Given the description of an element on the screen output the (x, y) to click on. 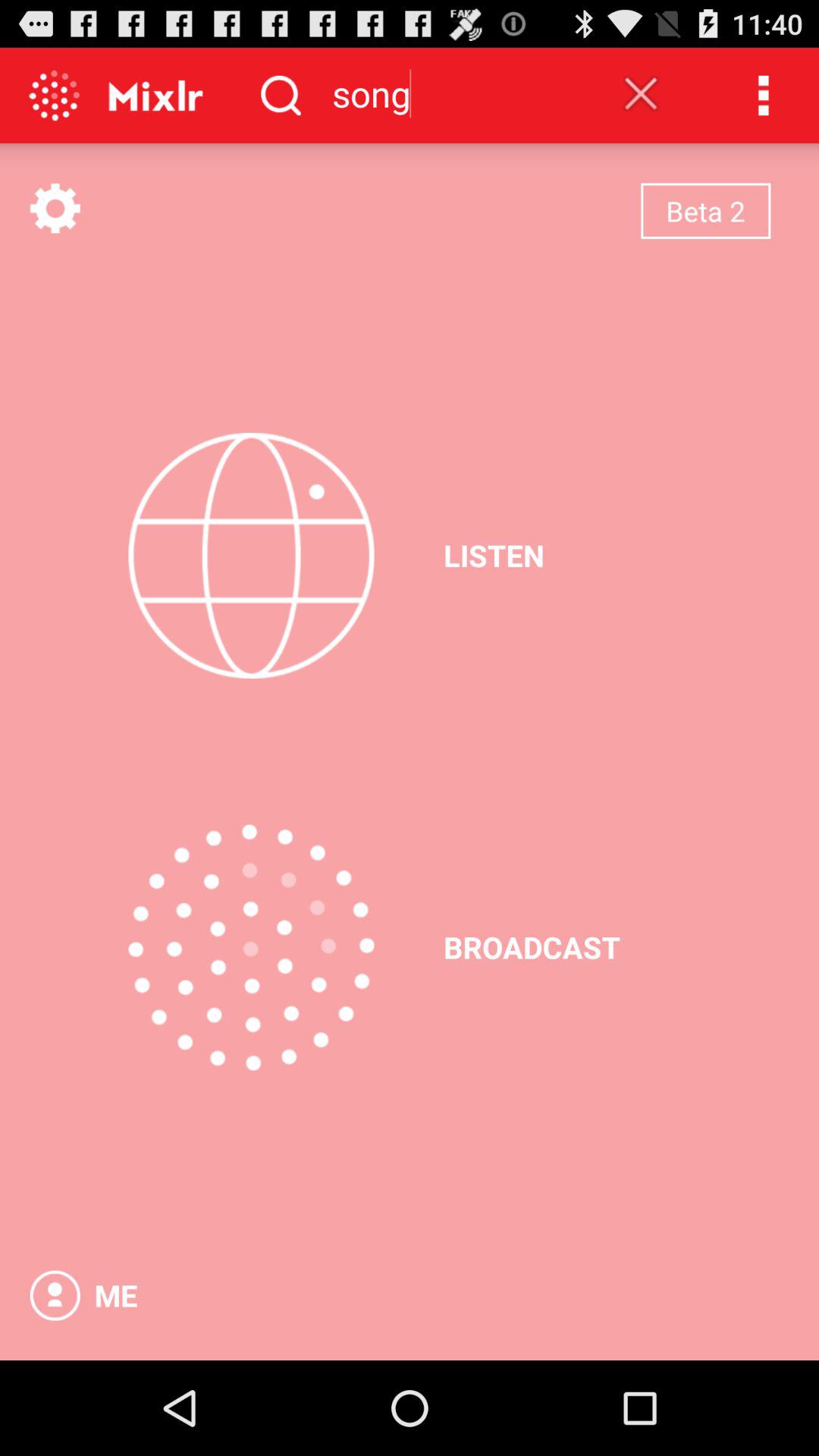
setting (55, 208)
